Given the description of an element on the screen output the (x, y) to click on. 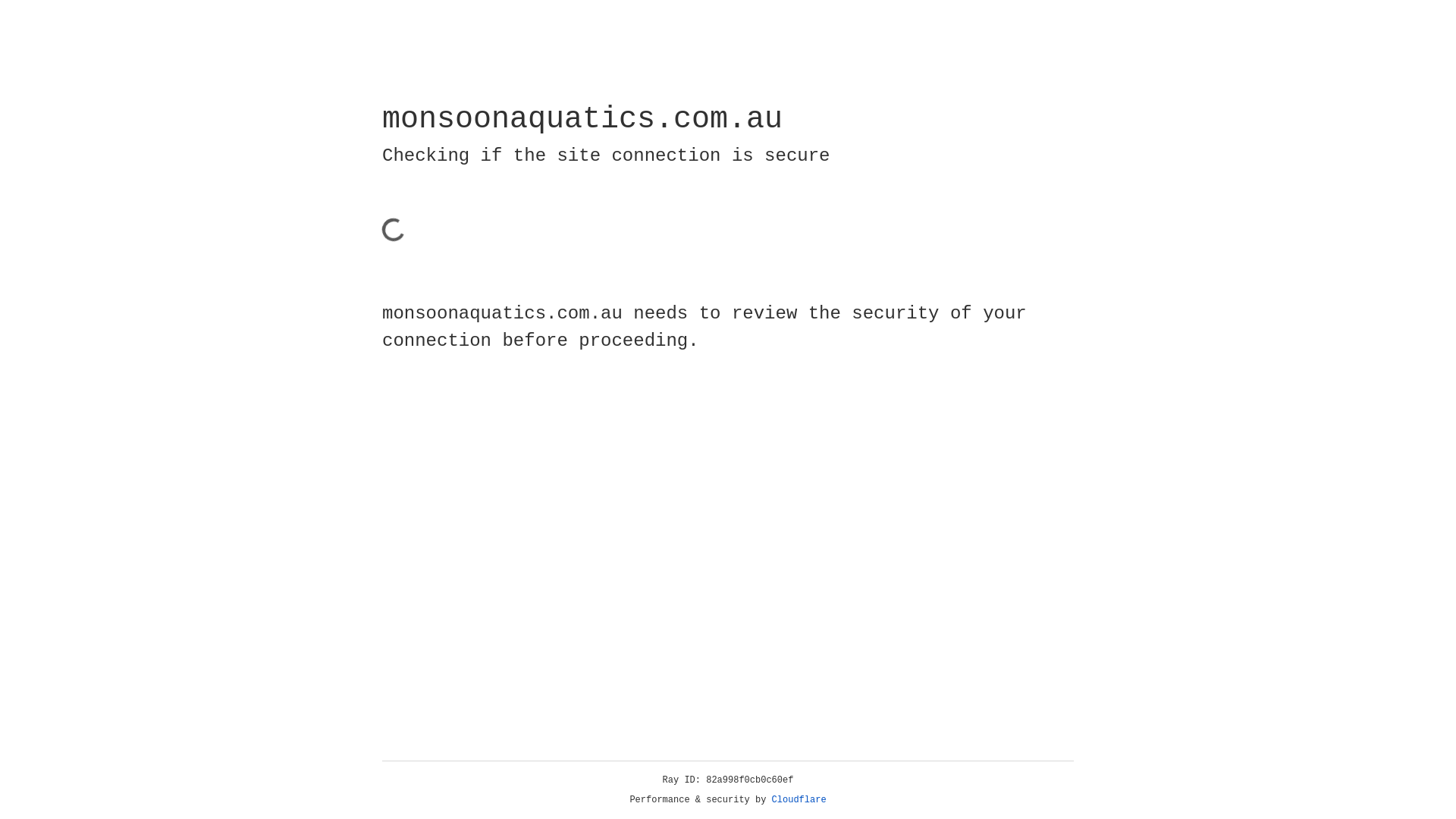
Cloudflare Element type: text (798, 799)
